Given the description of an element on the screen output the (x, y) to click on. 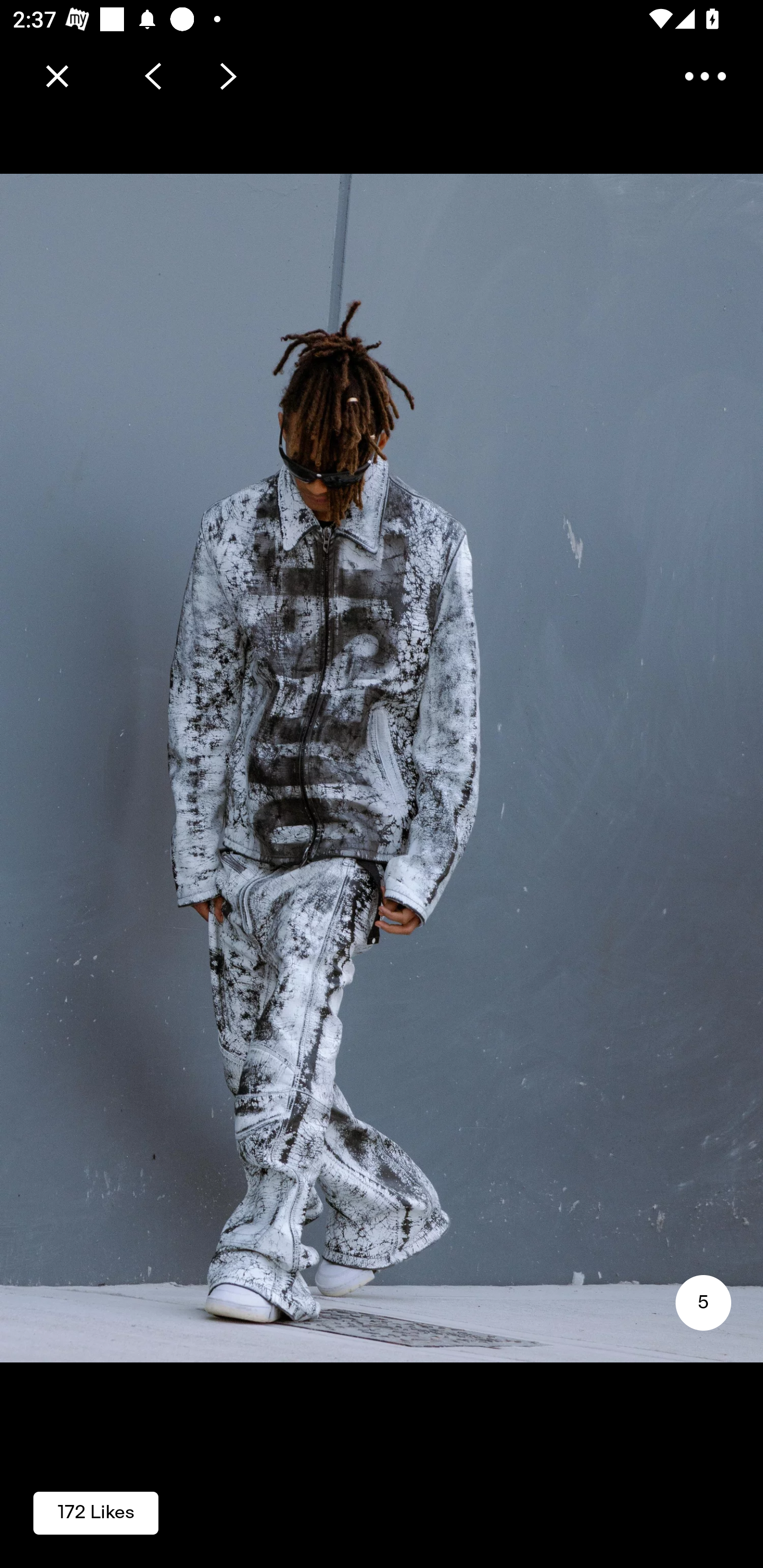
5 (702, 1302)
172 Likes (96, 1512)
